Given the description of an element on the screen output the (x, y) to click on. 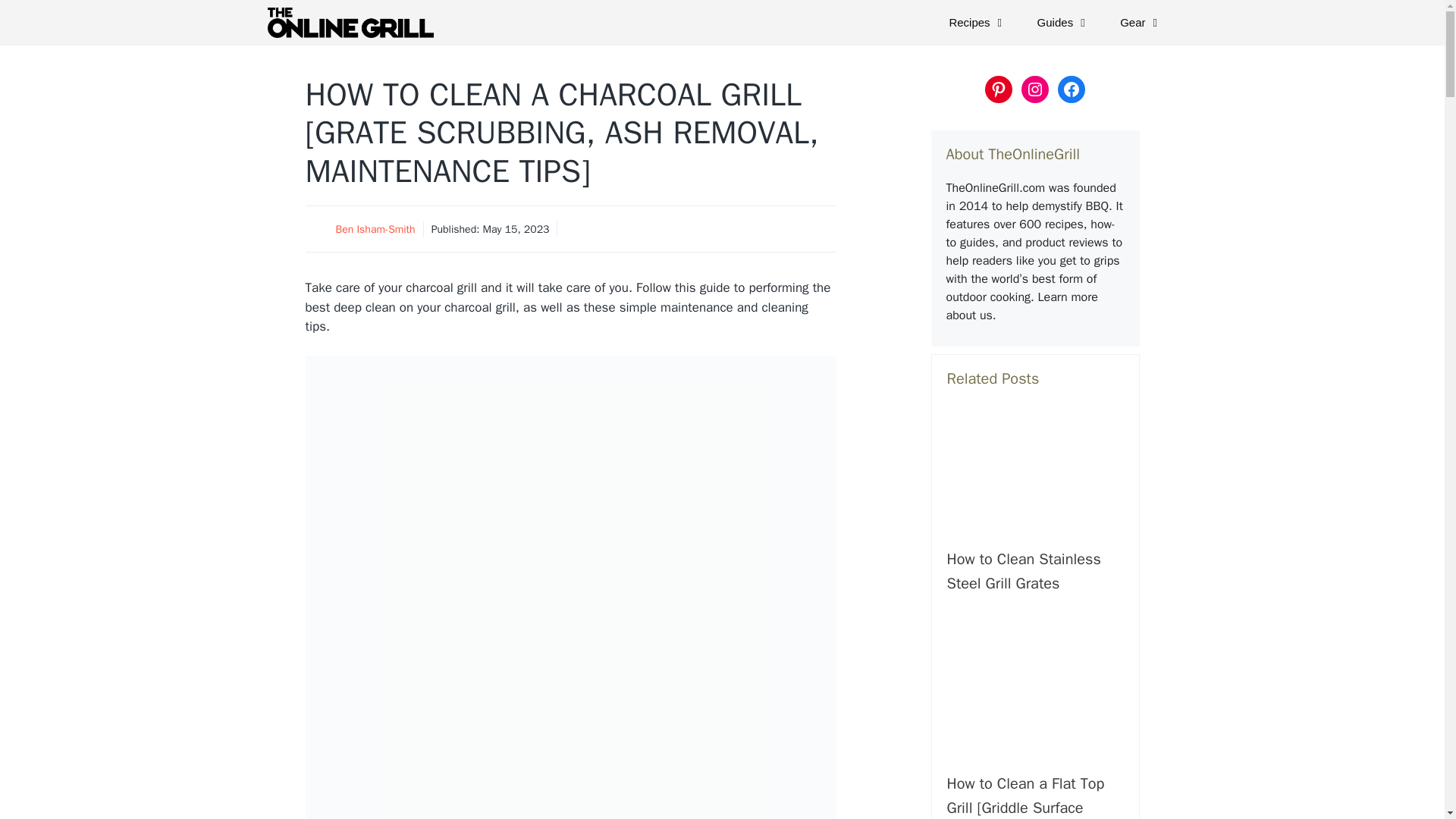
TheOnlineGrill.com (349, 22)
Recipes (977, 22)
TheOnlineGrill.com (353, 22)
